Given the description of an element on the screen output the (x, y) to click on. 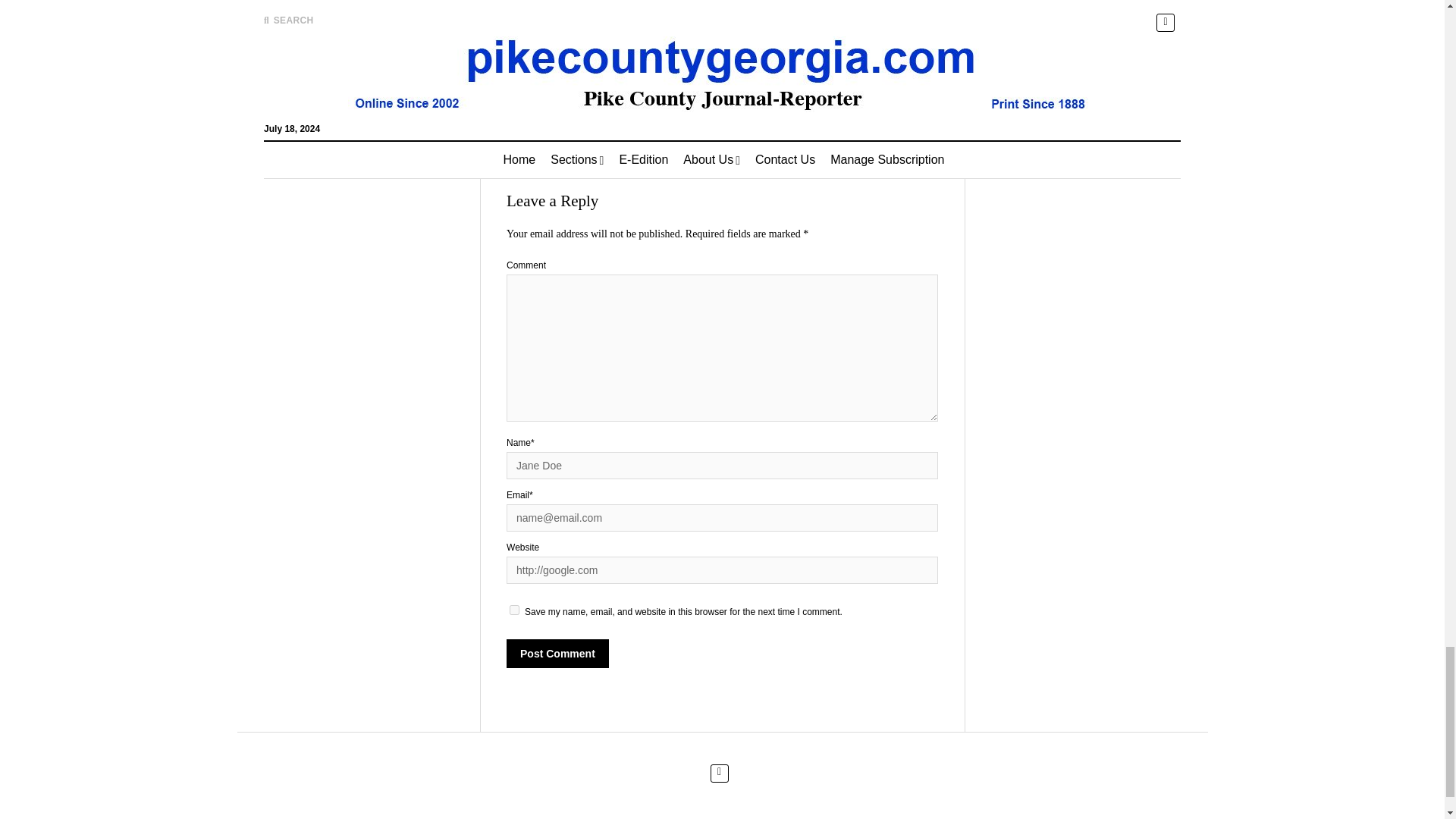
yes (514, 610)
Post Comment (557, 653)
